Given the description of an element on the screen output the (x, y) to click on. 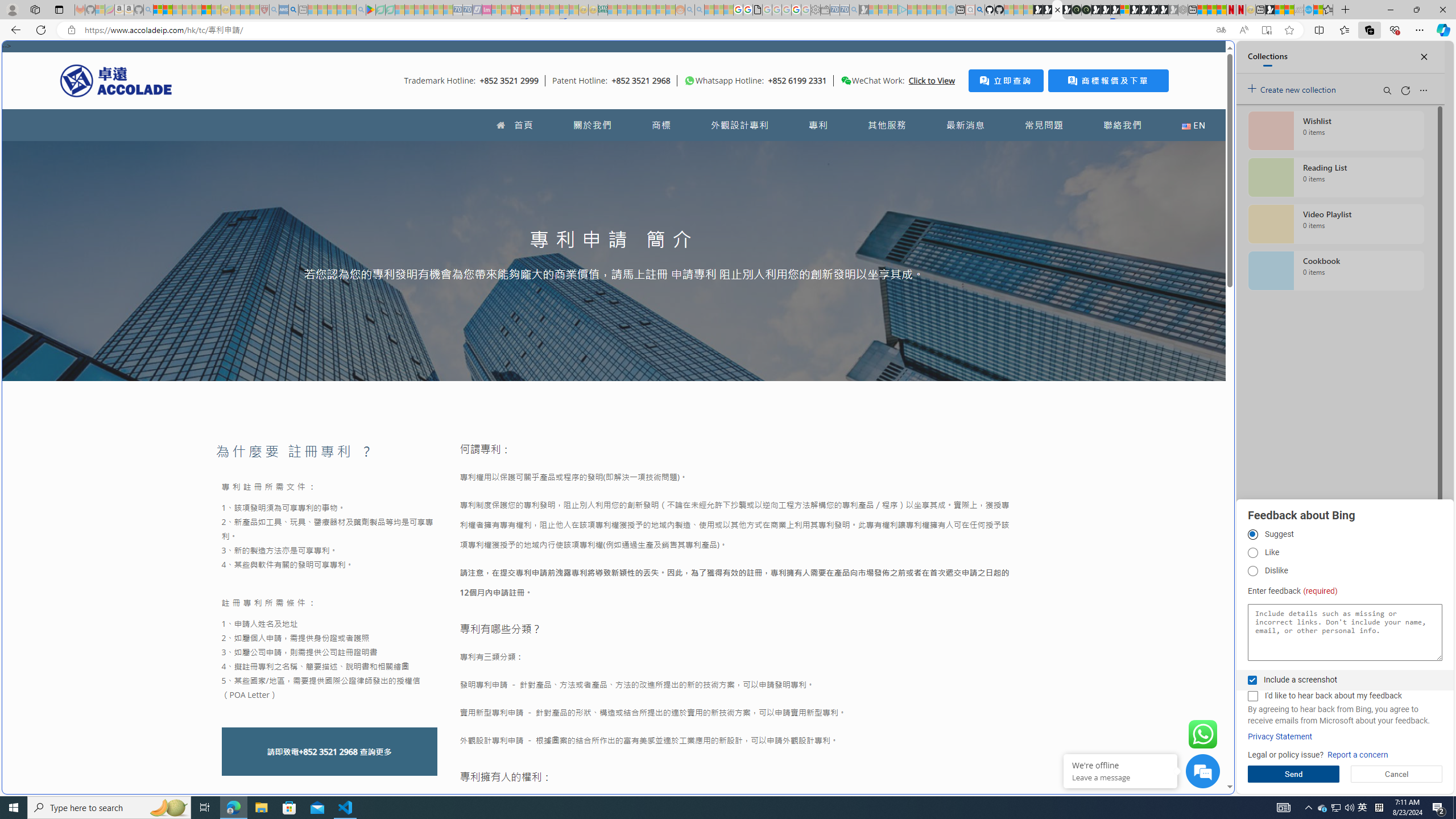
Report a concern (1358, 755)
New Report Confirms 2023 Was Record Hot | Watch - Sleeping (196, 9)
Microsoft-Report a Concern to Bing - Sleeping (99, 9)
Accolade IP HK Logo (116, 80)
Play Zoo Boom in your browser | Games from Microsoft Start (1047, 9)
Robert H. Shmerling, MD - Harvard Health - Sleeping (263, 9)
I'd like to hear back about my feedback (1252, 696)
